Given the description of an element on the screen output the (x, y) to click on. 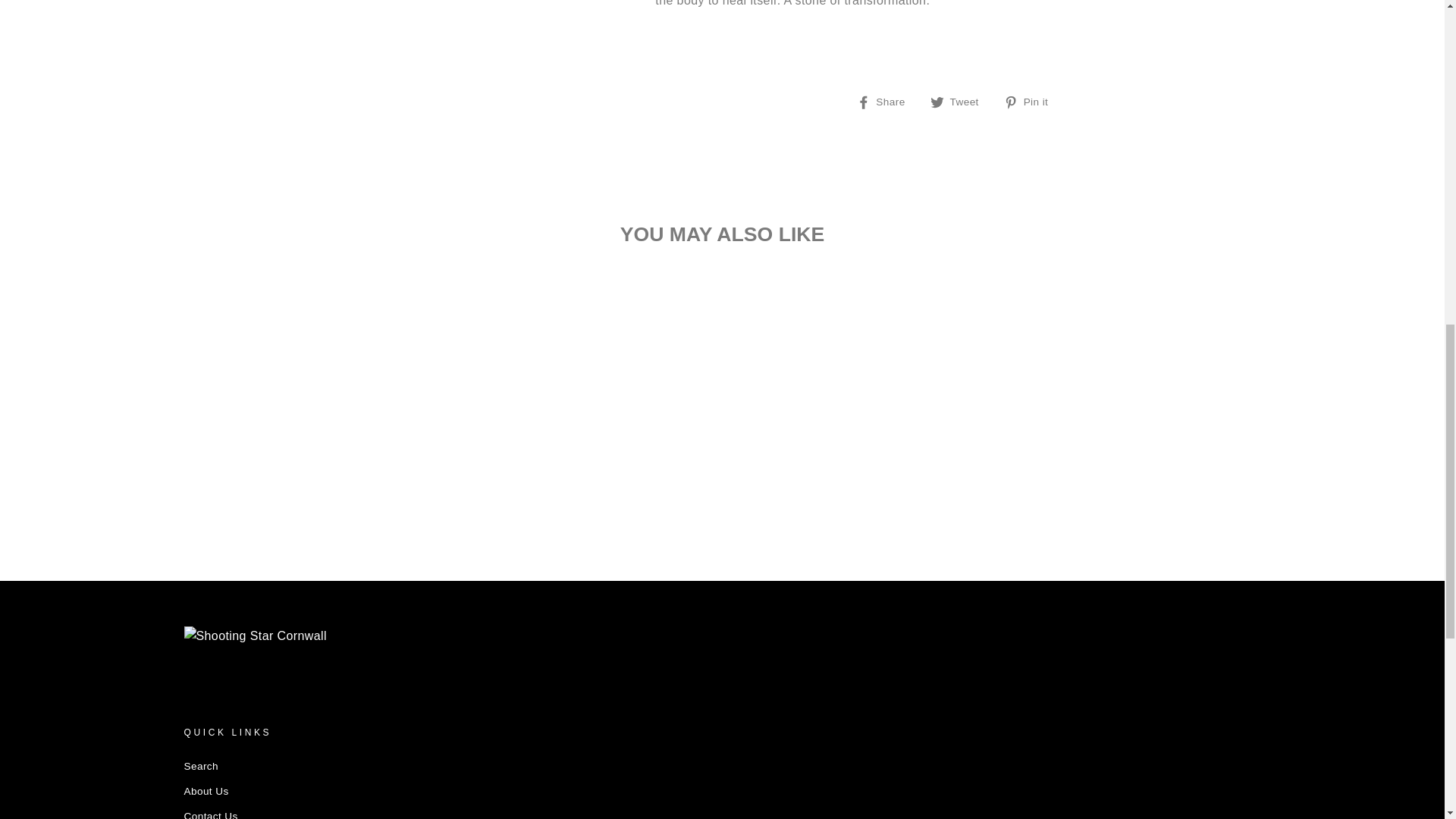
Tweet on Twitter (960, 101)
Pin on Pinterest (1031, 101)
Share on Facebook (887, 101)
